Given the description of an element on the screen output the (x, y) to click on. 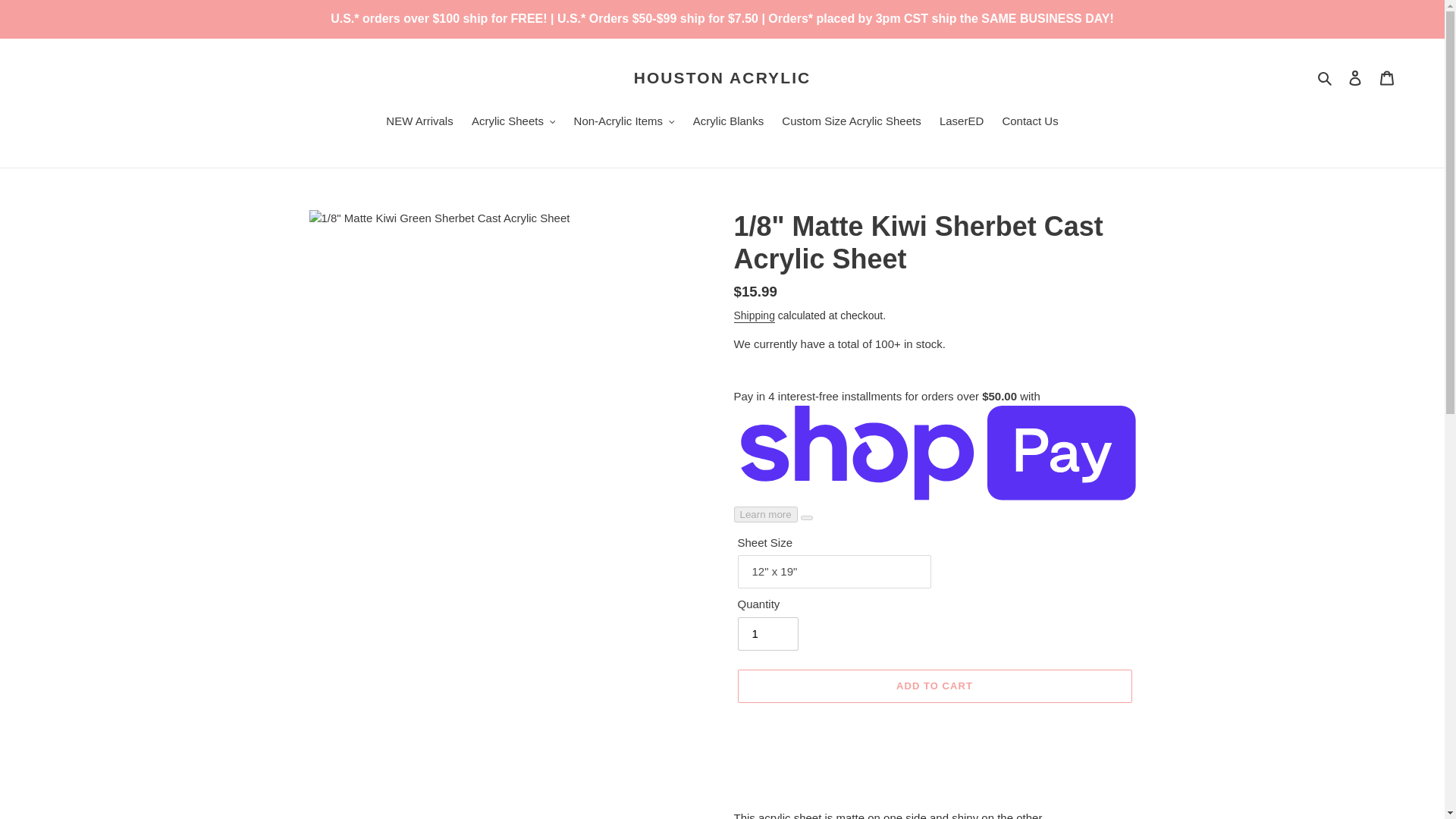
1 (766, 633)
HOUSTON ACRYLIC (721, 76)
Search (1326, 76)
Cart (1387, 77)
Log in (1355, 77)
